Given the description of an element on the screen output the (x, y) to click on. 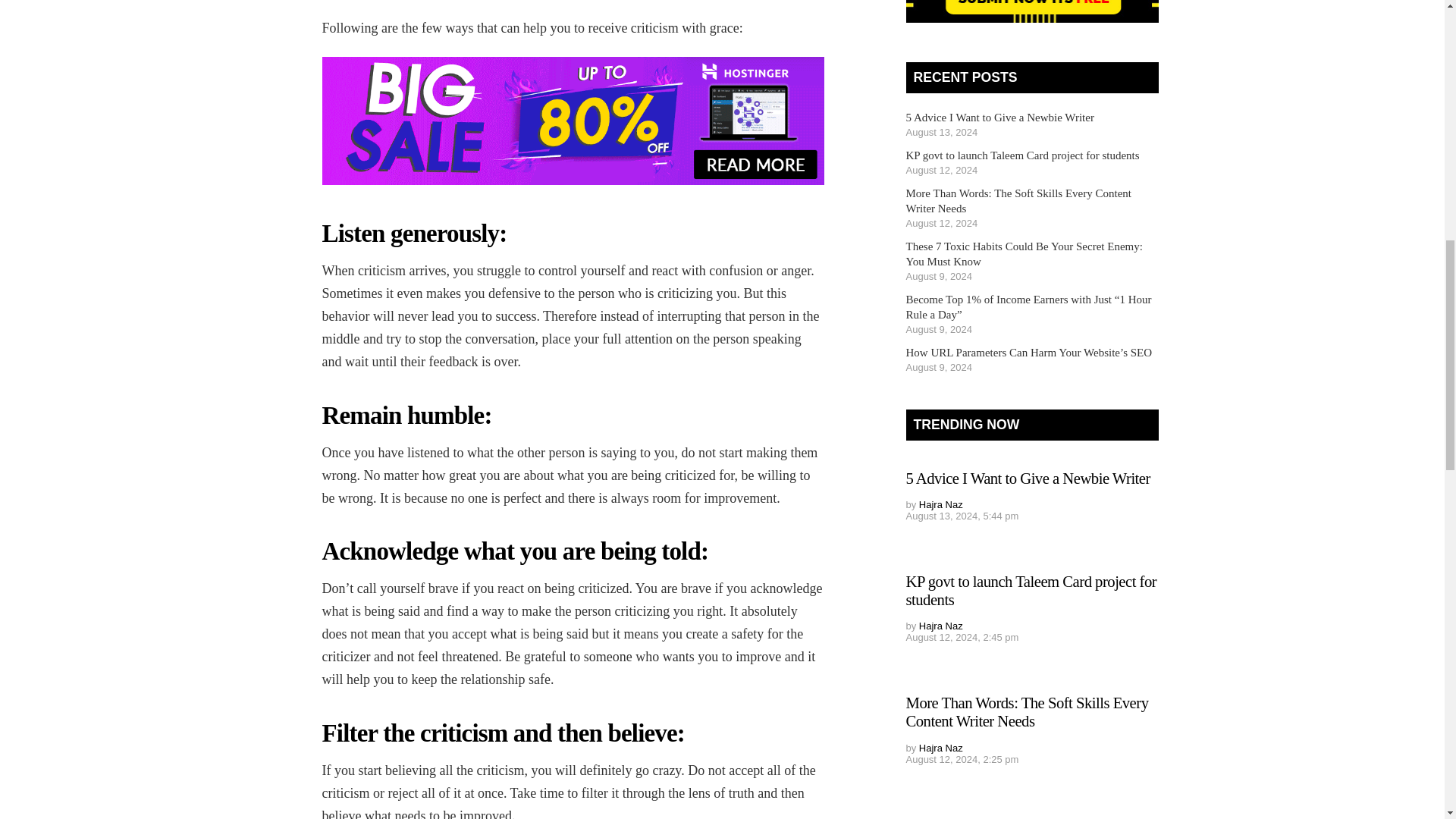
Posts by Hajra Naz (940, 625)
Posts by Hajra Naz (940, 504)
Want a Free Website (572, 120)
Posts by Hajra Naz (940, 747)
